Given the description of an element on the screen output the (x, y) to click on. 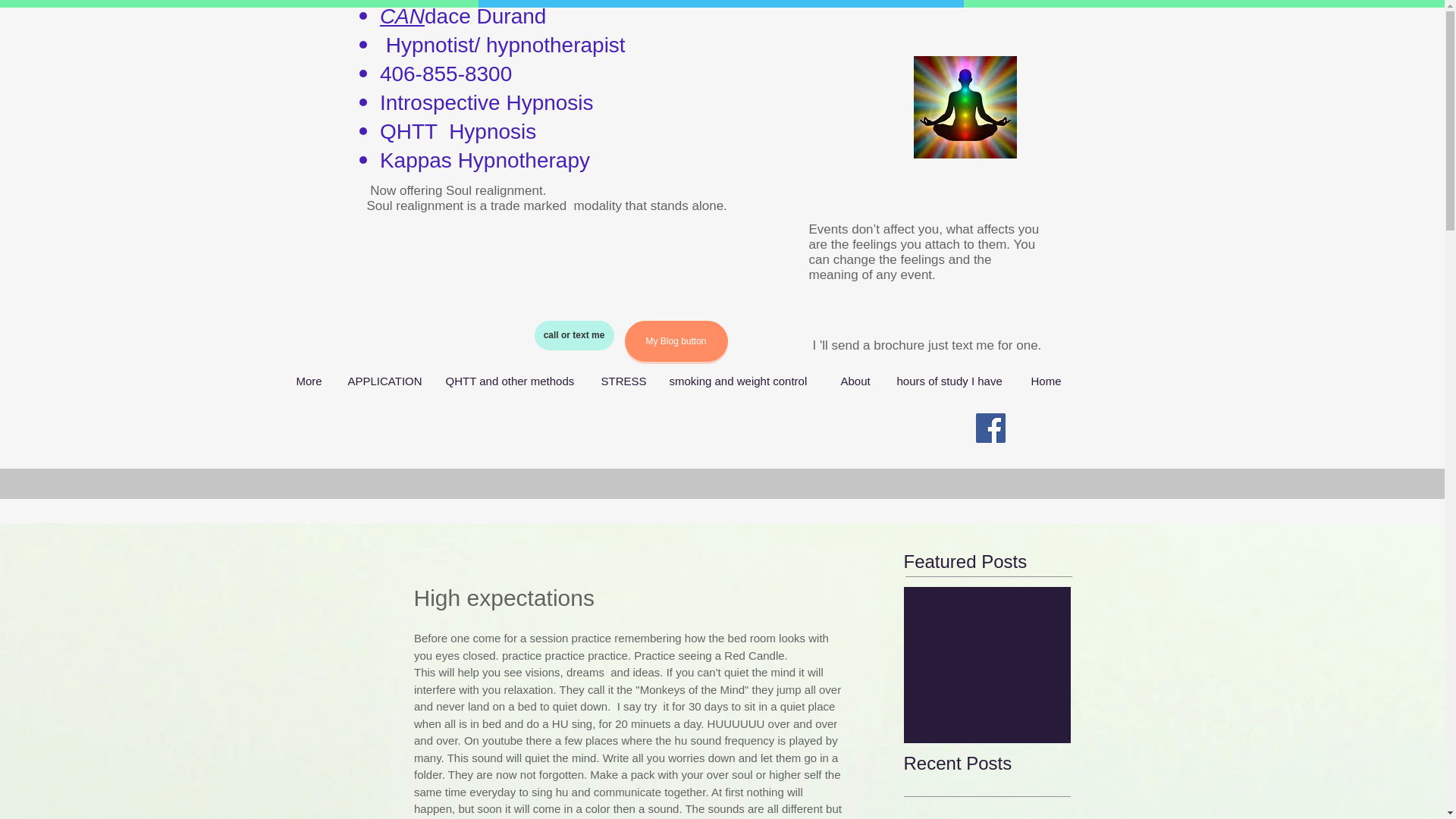
My Blog button (676, 341)
Introspective Hypnosis (487, 102)
th.jpg (964, 107)
406-855-8300  (449, 73)
call or text me (573, 335)
CANdace Durand (463, 15)
